Given the description of an element on the screen output the (x, y) to click on. 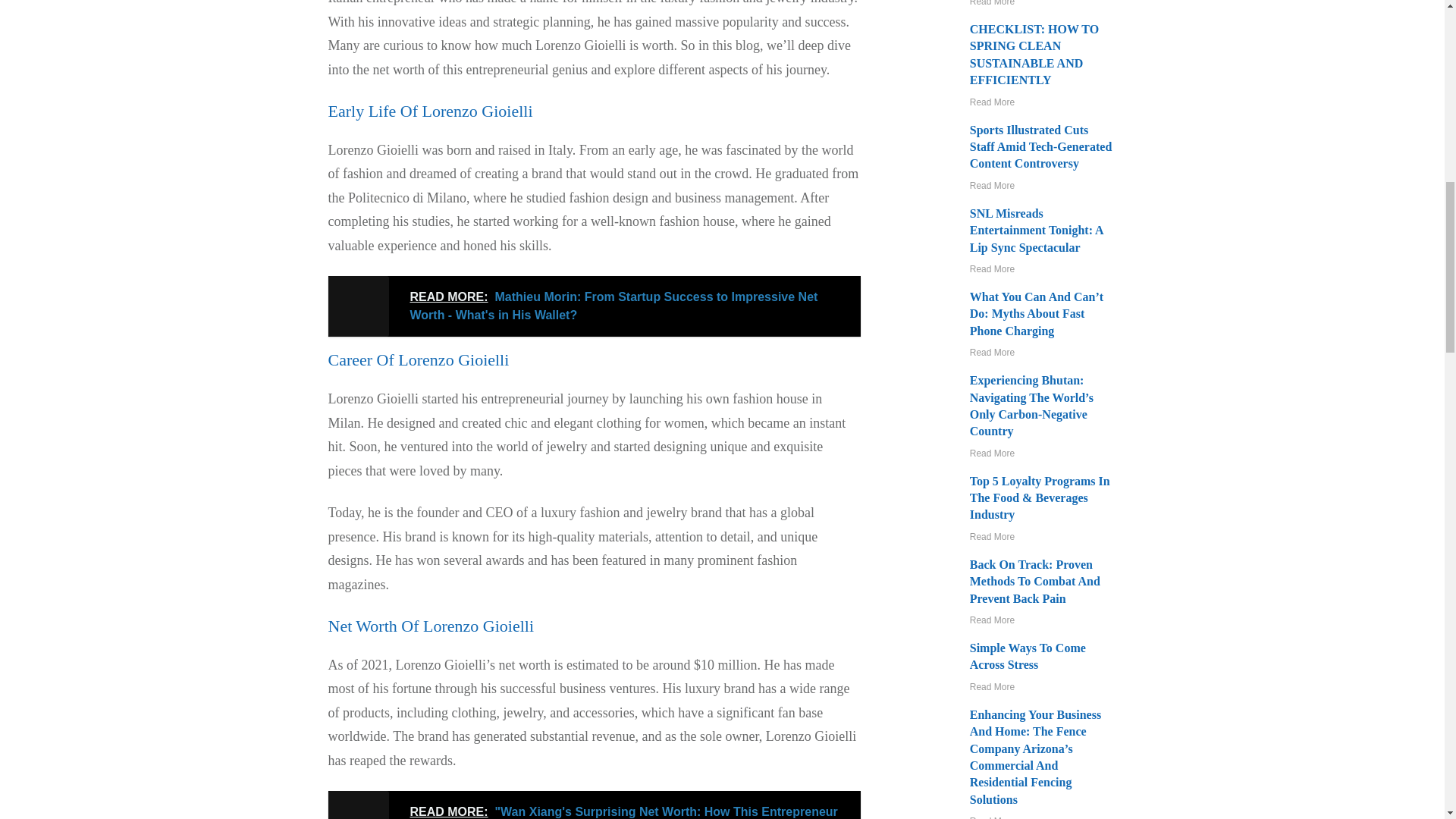
Simple Ways to Come Across Stress (1027, 655)
CHECKLIST: HOW TO SPRING CLEAN SUSTAINABLE AND EFFICIENTLY (1034, 54)
SNL Misreads Entertainment Tonight: A Lip Sync Spectacular (1036, 230)
